Given the description of an element on the screen output the (x, y) to click on. 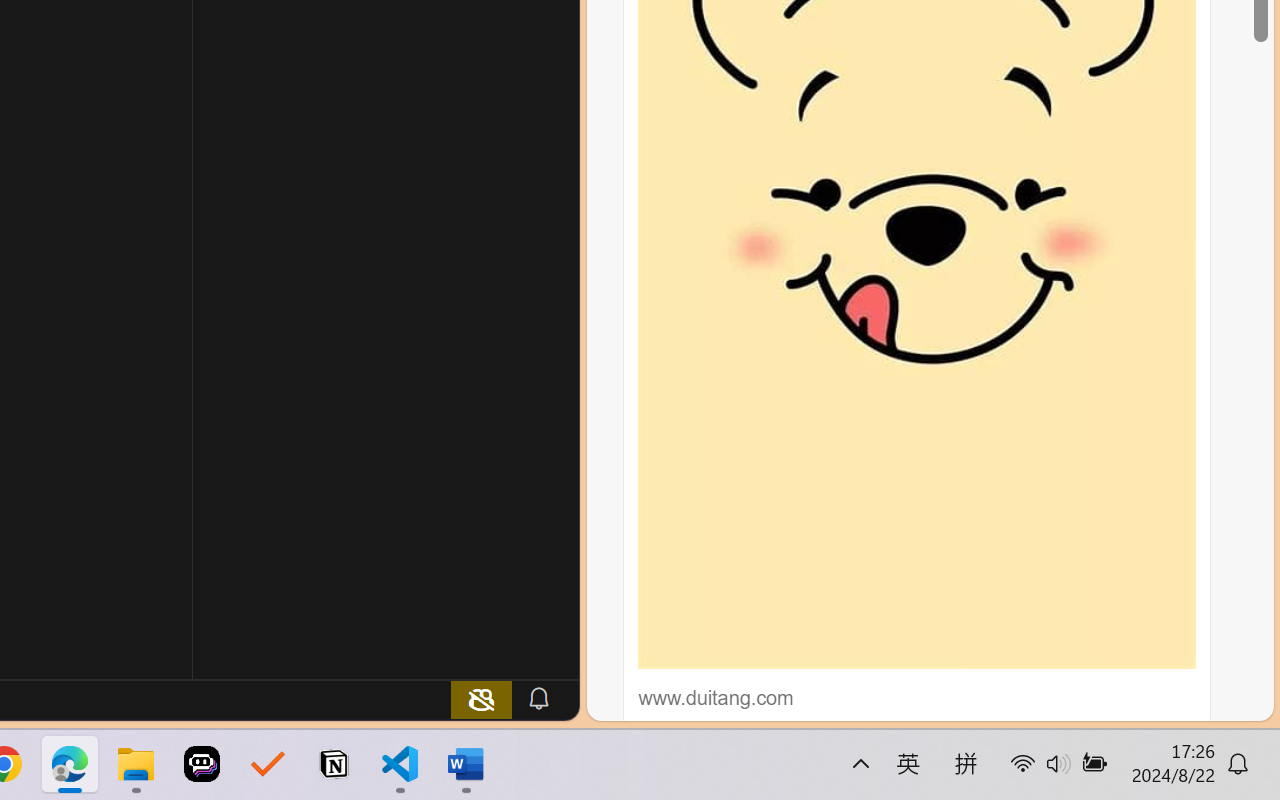
Notifications (537, 698)
